Given the description of an element on the screen output the (x, y) to click on. 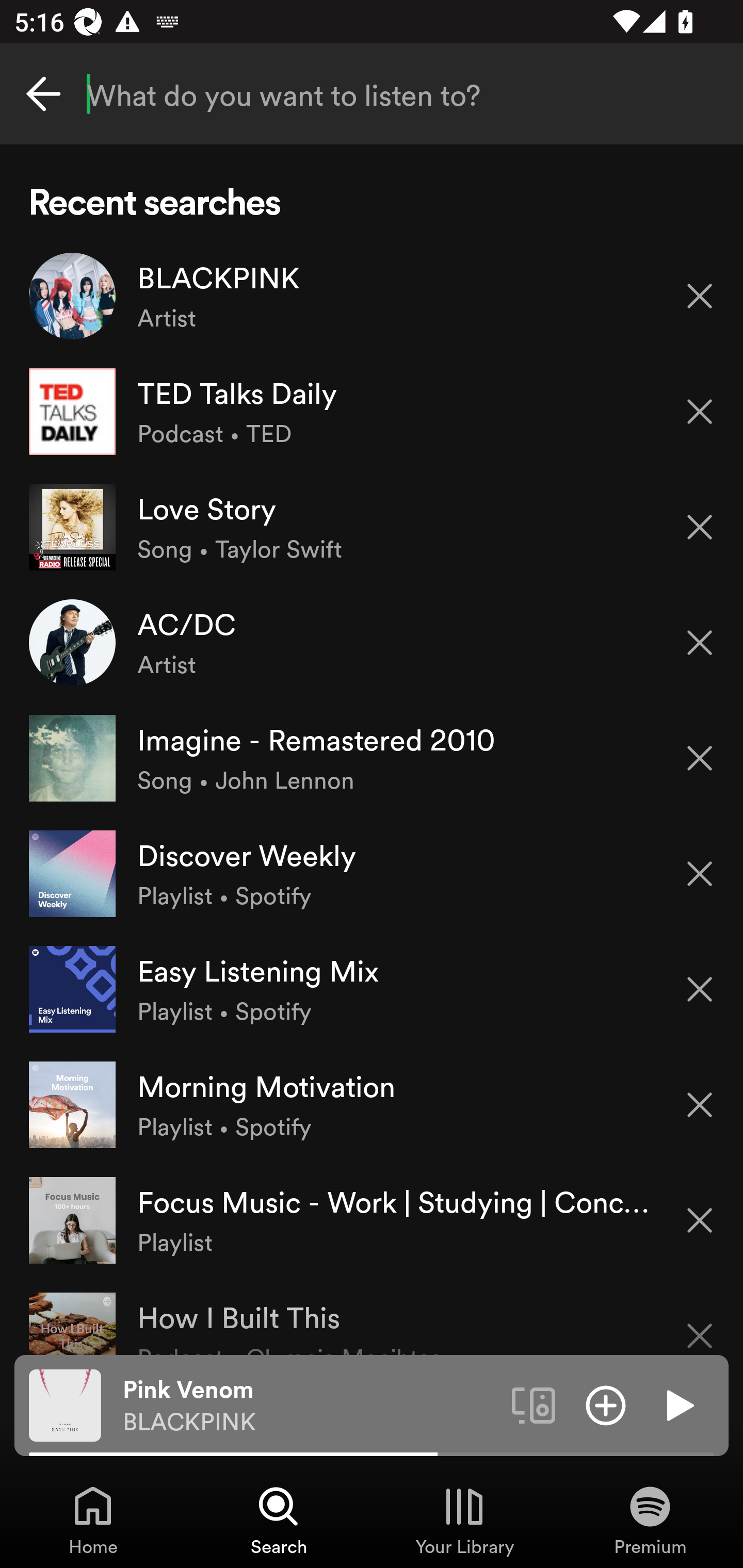
What do you want to listen to? (371, 93)
Cancel (43, 93)
BLACKPINK Artist Remove (371, 296)
Remove (699, 295)
TED Talks Daily Podcast • TED Remove (371, 411)
Remove (699, 411)
Love Story Song • Taylor Swift Remove (371, 526)
Remove (699, 527)
AC/DC Artist Remove (371, 642)
Remove (699, 642)
Remove (699, 758)
Discover Weekly Playlist • Spotify Remove (371, 873)
Remove (699, 874)
Easy Listening Mix Playlist • Spotify Remove (371, 989)
Remove (699, 989)
Morning Motivation Playlist • Spotify Remove (371, 1104)
Remove (699, 1104)
Remove (699, 1220)
Remove (699, 1323)
Pink Venom BLACKPINK (309, 1405)
The cover art of the currently playing track (64, 1404)
Connect to a device. Opens the devices menu (533, 1404)
Add item (605, 1404)
Play (677, 1404)
Home, Tab 1 of 4 Home Home (92, 1519)
Search, Tab 2 of 4 Search Search (278, 1519)
Your Library, Tab 3 of 4 Your Library Your Library (464, 1519)
Premium, Tab 4 of 4 Premium Premium (650, 1519)
